Given the description of an element on the screen output the (x, y) to click on. 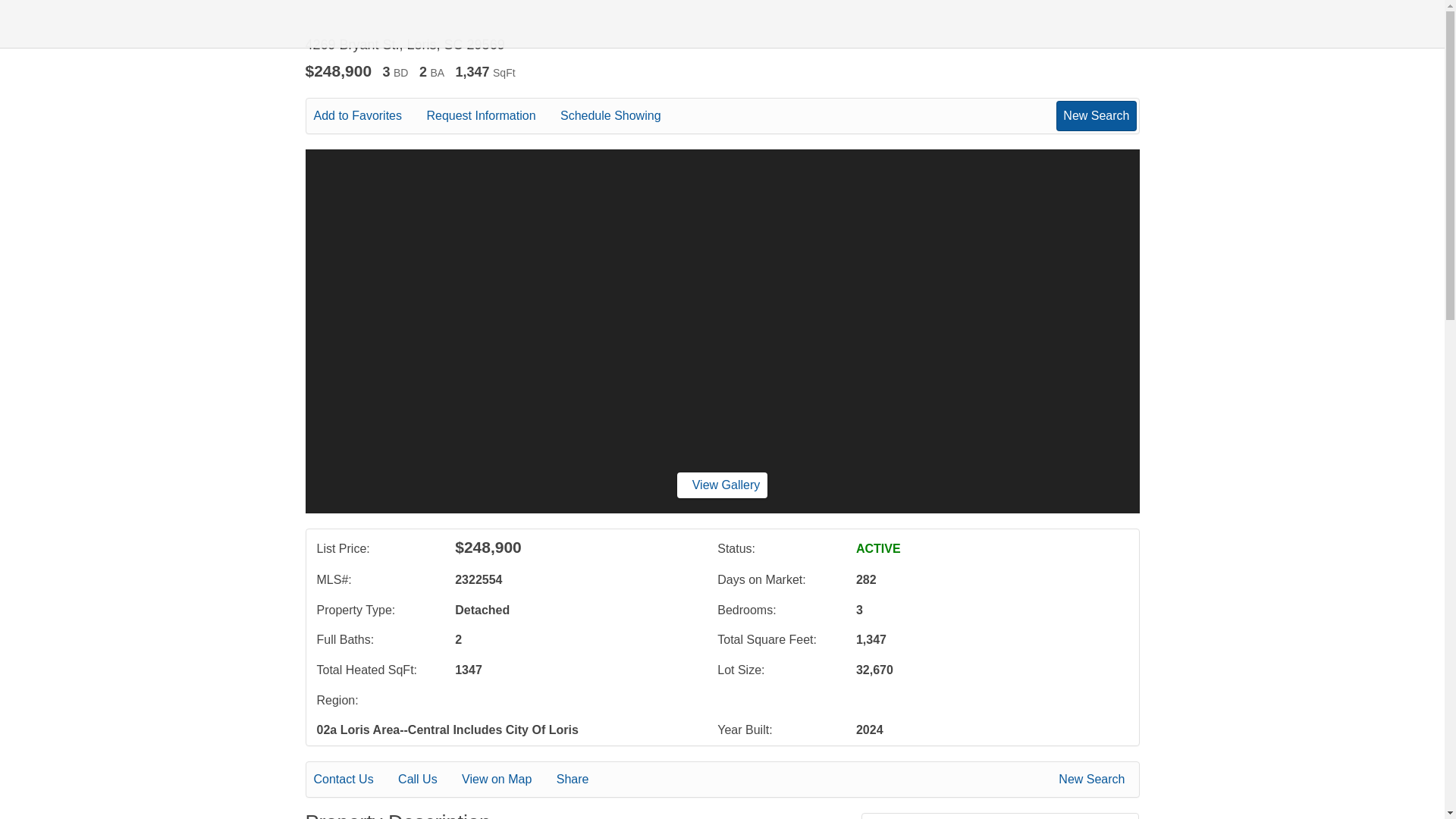
View on Map (507, 779)
Call Us (427, 779)
New Search (1094, 779)
New Search (1096, 115)
View Gallery (722, 484)
Add to Favorites (368, 115)
Share (583, 779)
Request Information (491, 115)
View Gallery (722, 484)
Contact Us (354, 779)
